Given the description of an element on the screen output the (x, y) to click on. 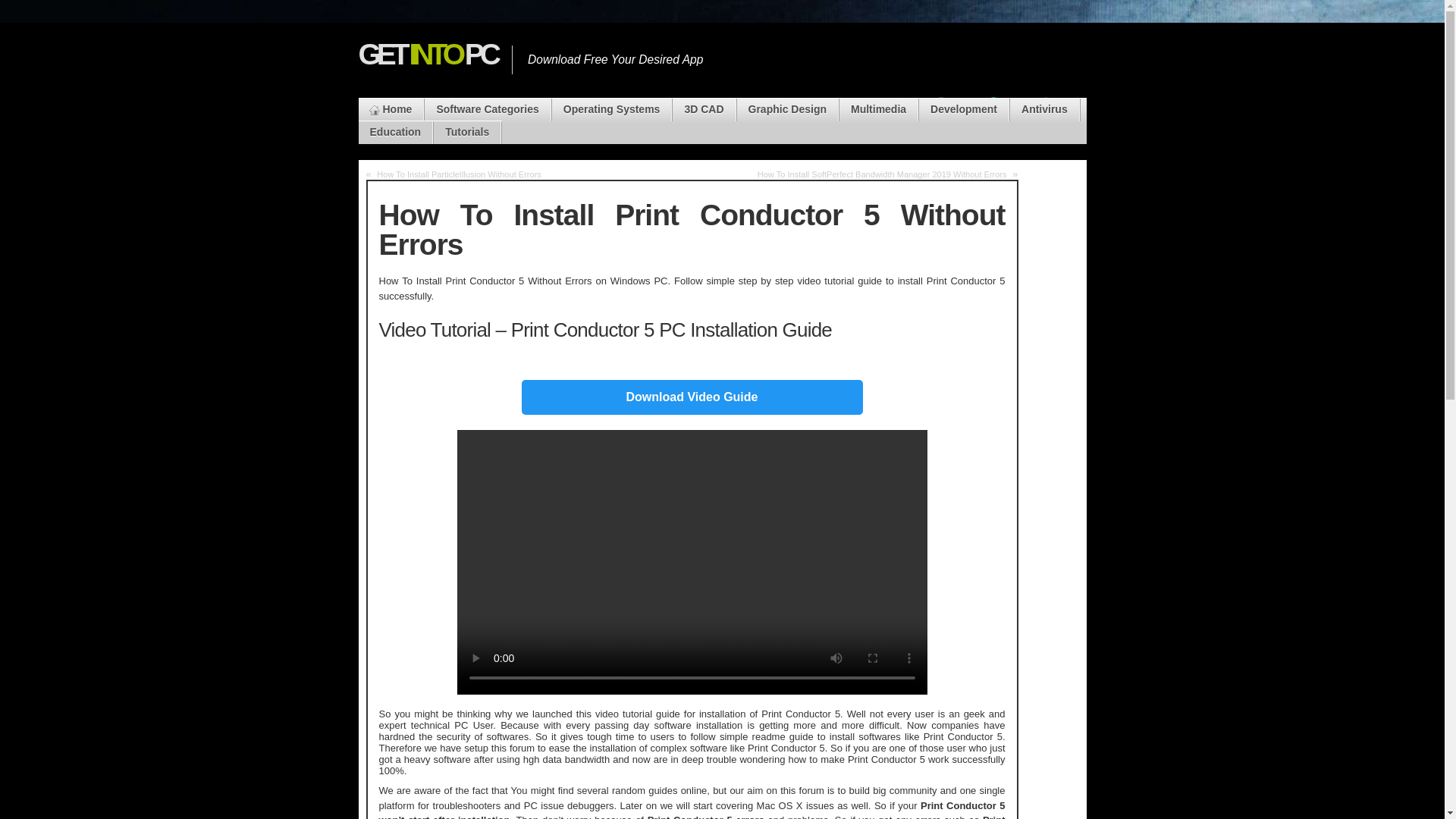
How To Install ParticleIllusion Without Errors (459, 174)
Graphic Design (787, 109)
Download Video Guide (692, 396)
Development (963, 109)
Facebook Page (946, 120)
GET INTO PC (427, 54)
Operating Systems (611, 109)
Tutorials (466, 132)
3D CAD (703, 109)
Subscribe (1050, 120)
Education (395, 132)
Home (390, 109)
Twitter Page (998, 120)
